Given the description of an element on the screen output the (x, y) to click on. 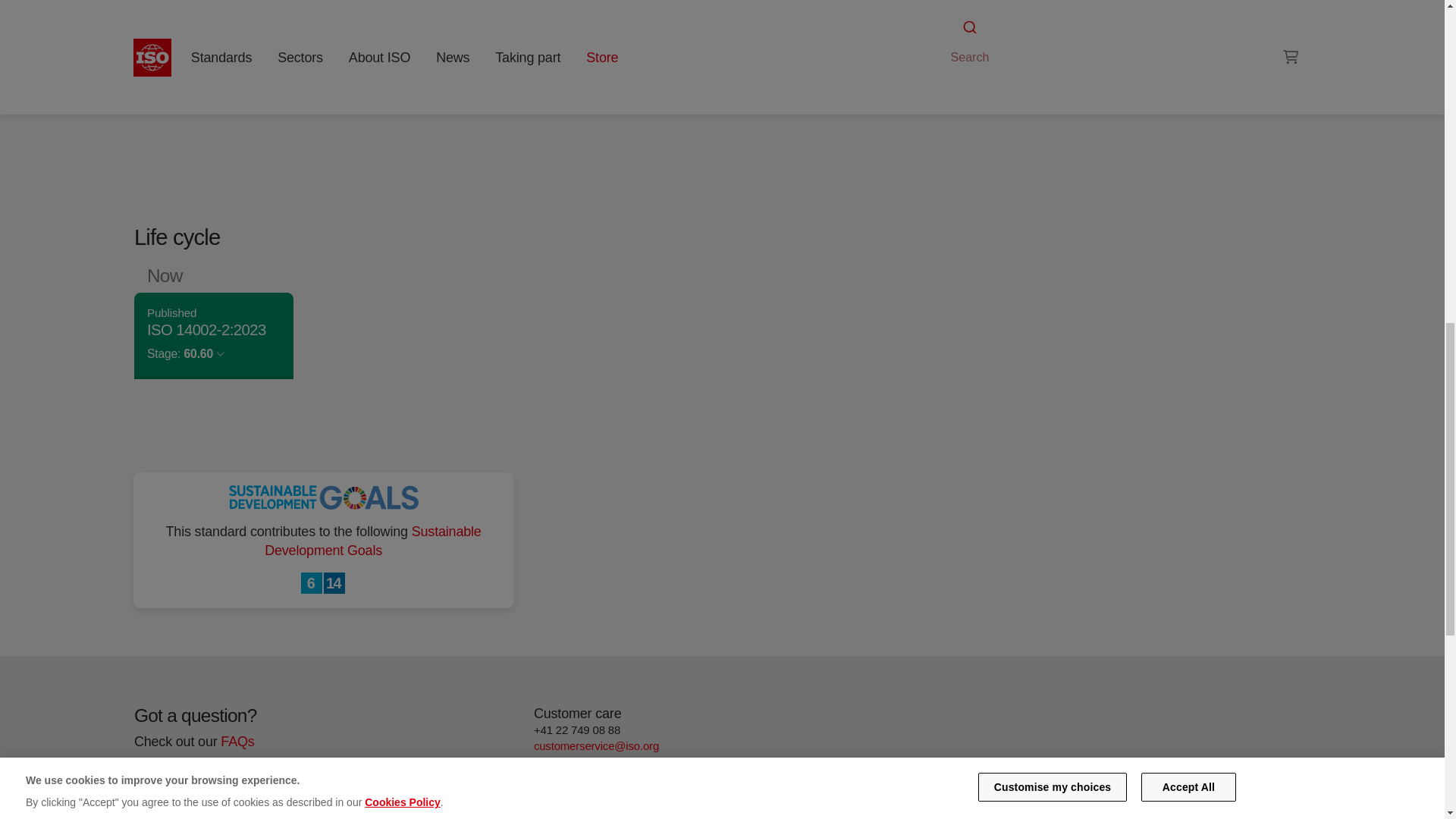
Environmental management (1063, 40)
13.060.01 (1130, 40)
RSS (956, 70)
Management systems (997, 40)
Environmental management systems (1120, 22)
13.020.10 (1063, 40)
03.100.70 (997, 40)
